Given the description of an element on the screen output the (x, y) to click on. 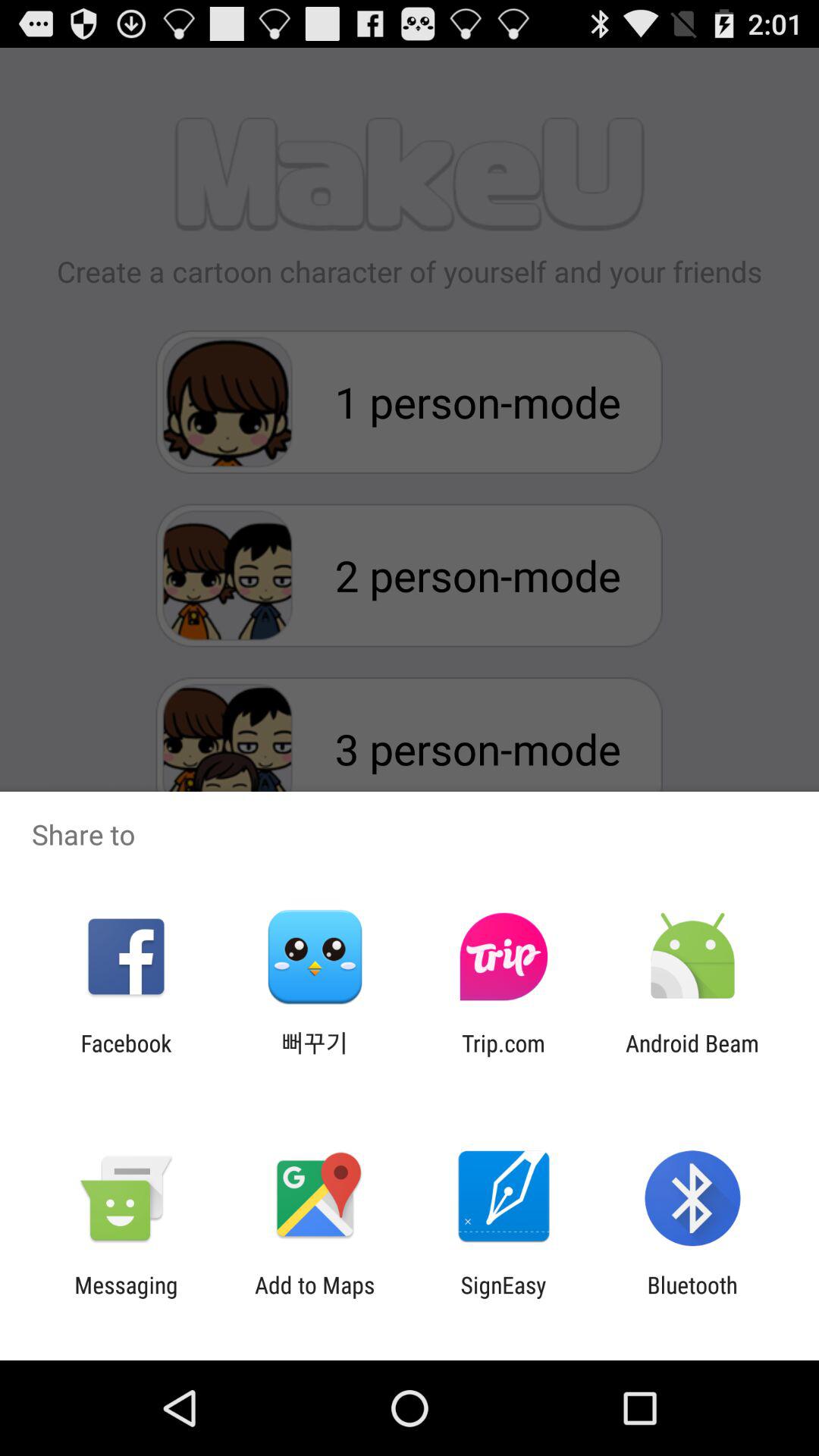
click app to the left of trip.com icon (314, 1056)
